Given the description of an element on the screen output the (x, y) to click on. 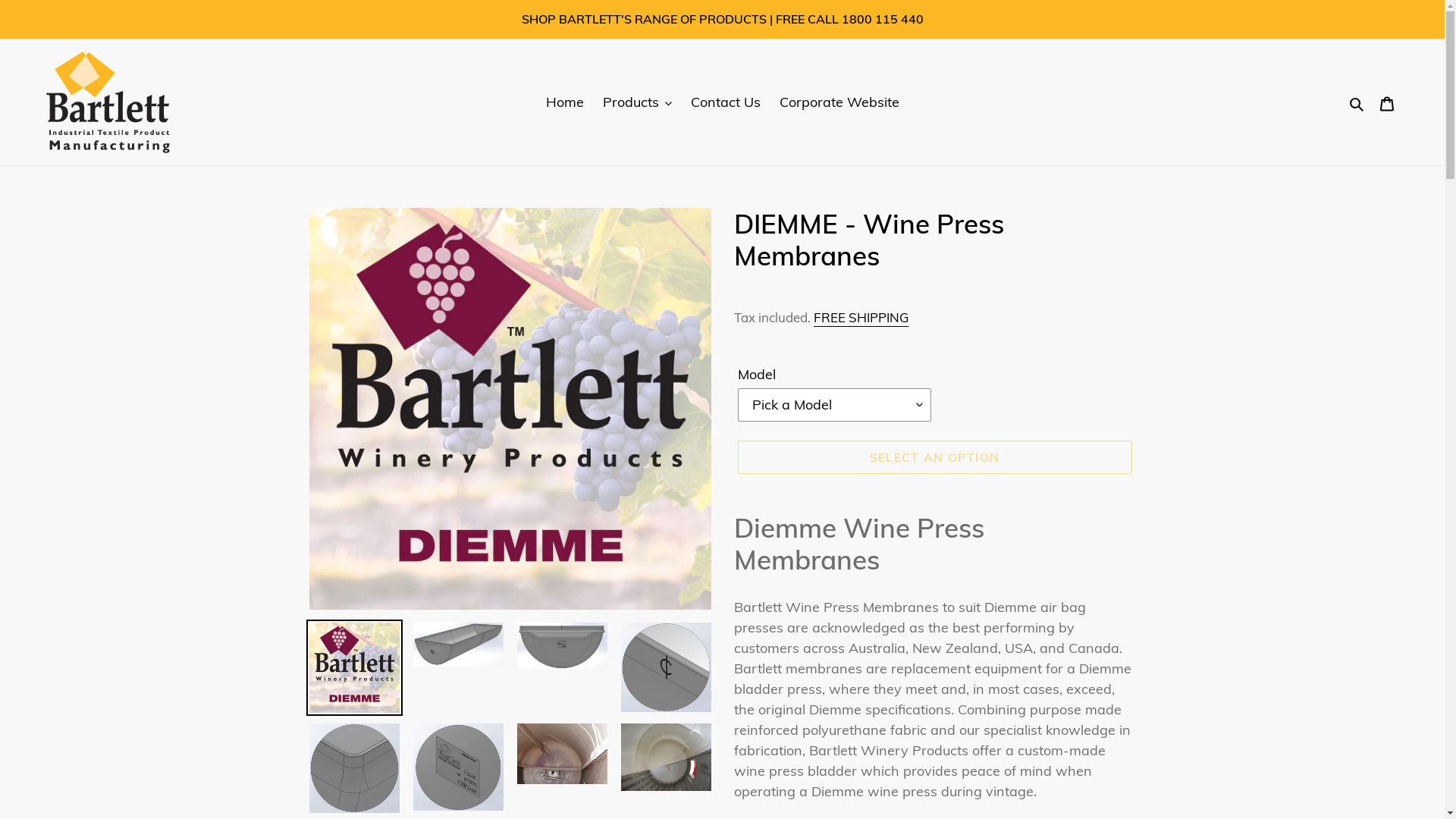
SELECT AN OPTION Element type: text (934, 456)
Corporate Website Element type: text (838, 101)
FREE SHIPPING Element type: text (859, 317)
Cart Element type: text (1386, 101)
Home Element type: text (564, 101)
Search Element type: text (1357, 101)
Contact Us Element type: text (724, 101)
Products Element type: text (636, 101)
